Given the description of an element on the screen output the (x, y) to click on. 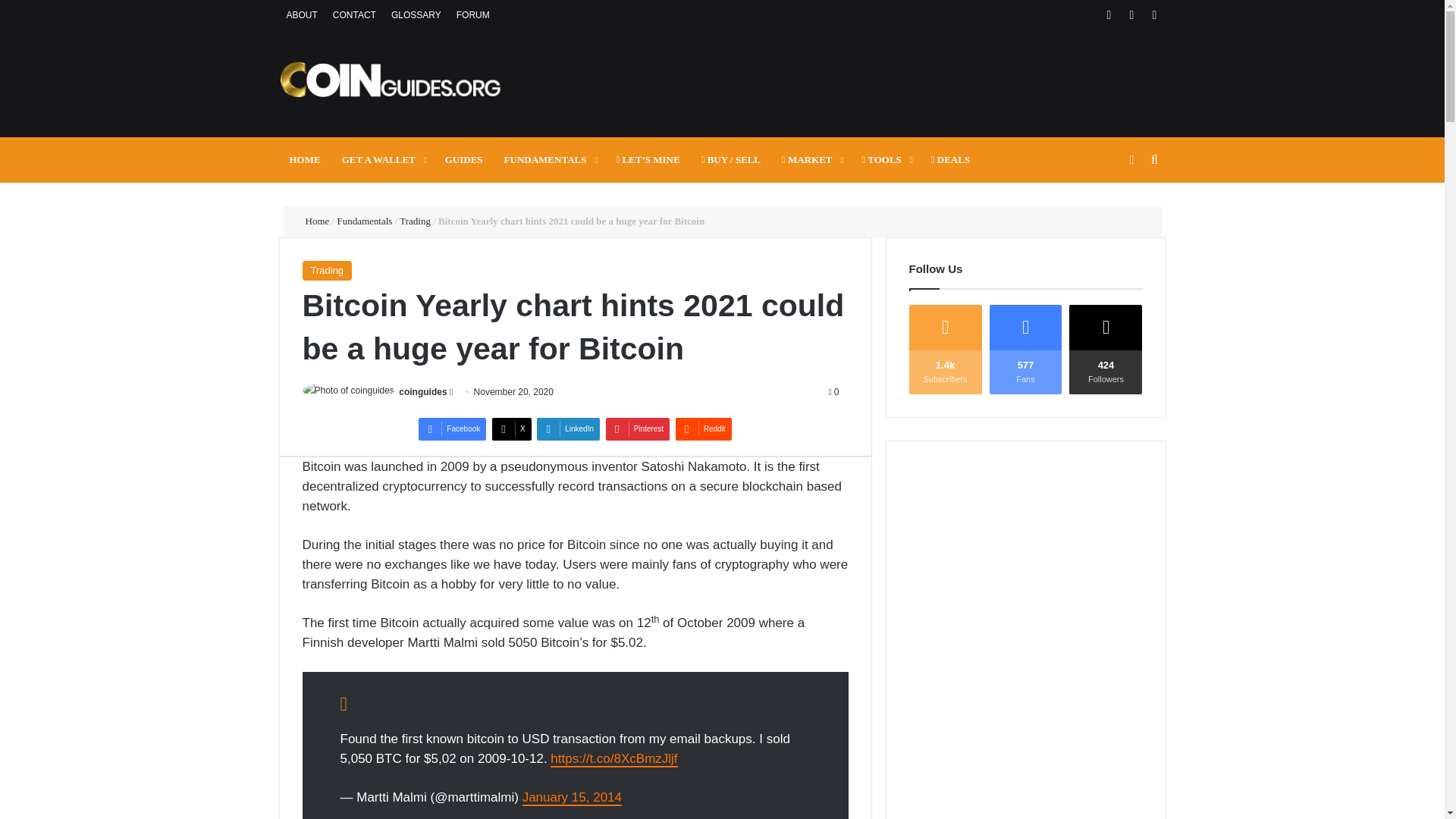
Reddit (703, 428)
HOME (305, 159)
Advertisement (873, 79)
GET A WALLET (382, 159)
LinkedIn (568, 428)
FUNDAMENTALS (549, 159)
CONTACT (354, 15)
coinguides (422, 391)
GLOSSARY (416, 15)
